Given the description of an element on the screen output the (x, y) to click on. 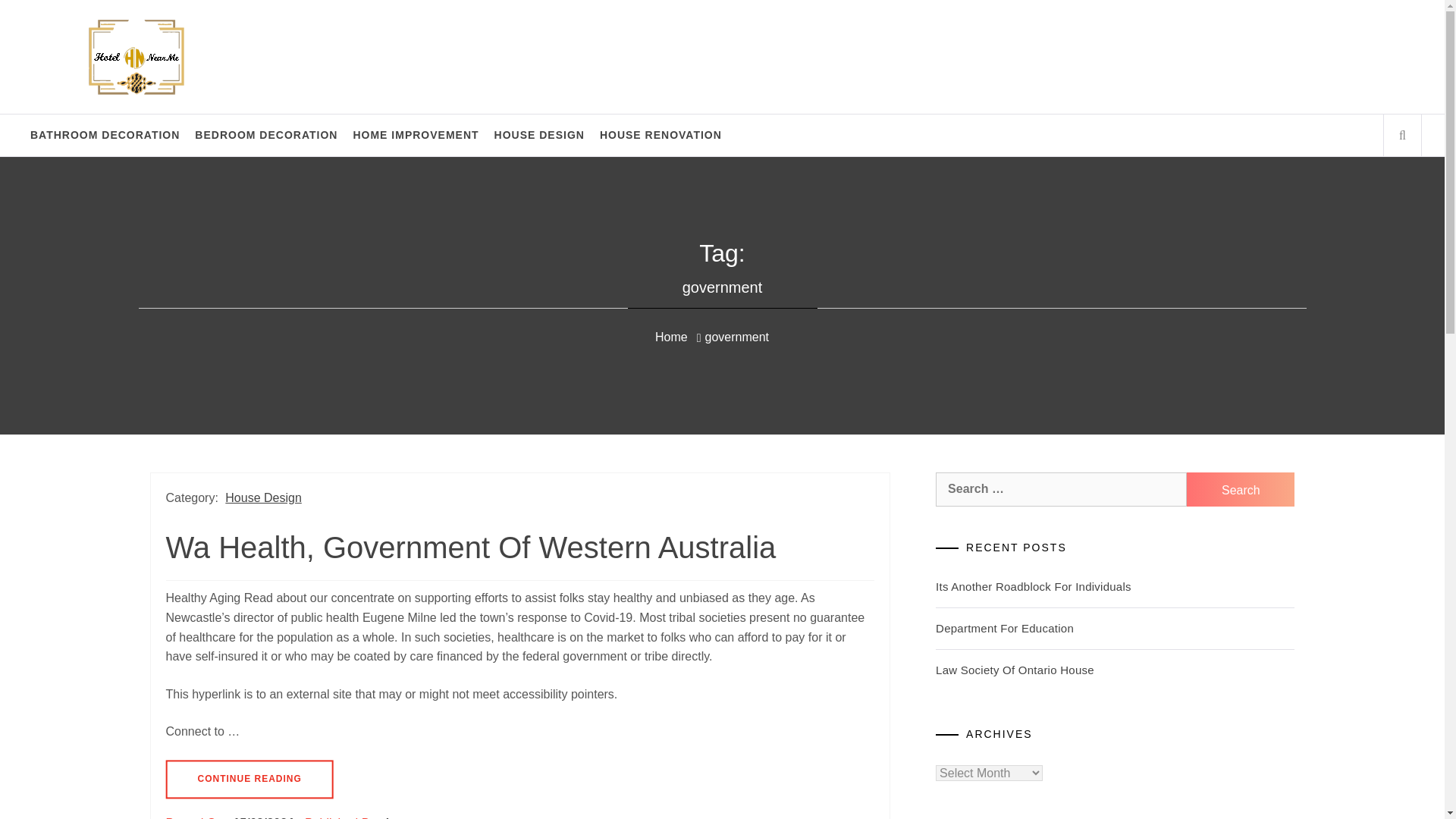
Law Society Of Ontario House (1015, 669)
BATHROOM DECORATION (105, 135)
BEDROOM DECORATION (266, 135)
Search (1240, 489)
Search (797, 37)
Wa Health, Government Of Western Australia (470, 547)
HNearme (85, 38)
Search (1240, 489)
Search (1240, 489)
Home (676, 336)
Its Another Roadblock For Individuals (1033, 585)
House Design (263, 497)
Department For Education (1005, 627)
HOME IMPROVEMENT (415, 135)
jono (398, 817)
